Given the description of an element on the screen output the (x, y) to click on. 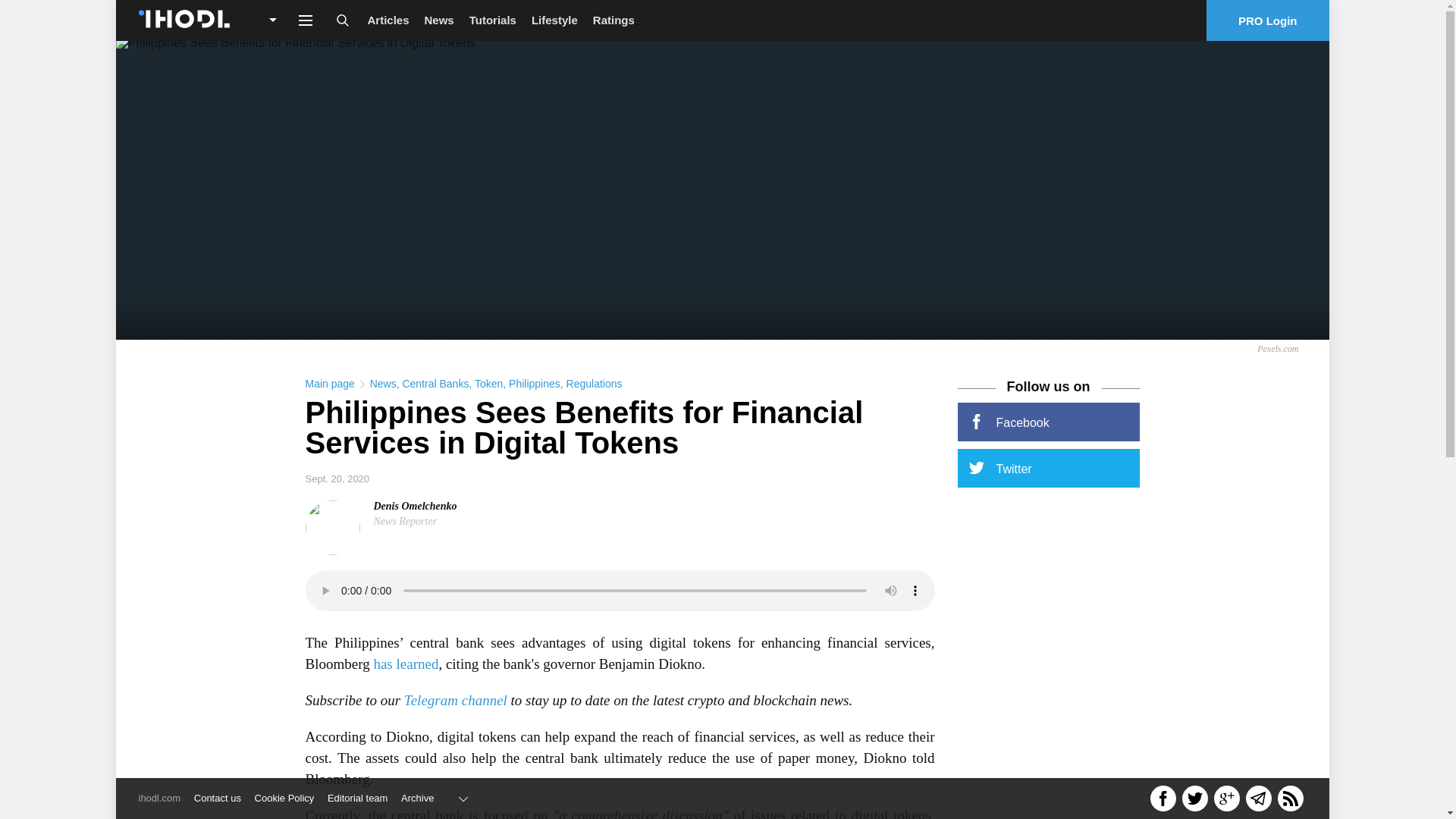
Tutorials (492, 20)
Token (488, 383)
Main page (328, 383)
Philippines (534, 383)
PRO Login (1268, 20)
Central Banks (434, 383)
Articles (387, 20)
News (382, 383)
News Reporter (404, 521)
Regulations (594, 383)
Ratings (613, 20)
Lifestyle (554, 20)
News (438, 20)
Denis Omelchenko (414, 505)
